Given the description of an element on the screen output the (x, y) to click on. 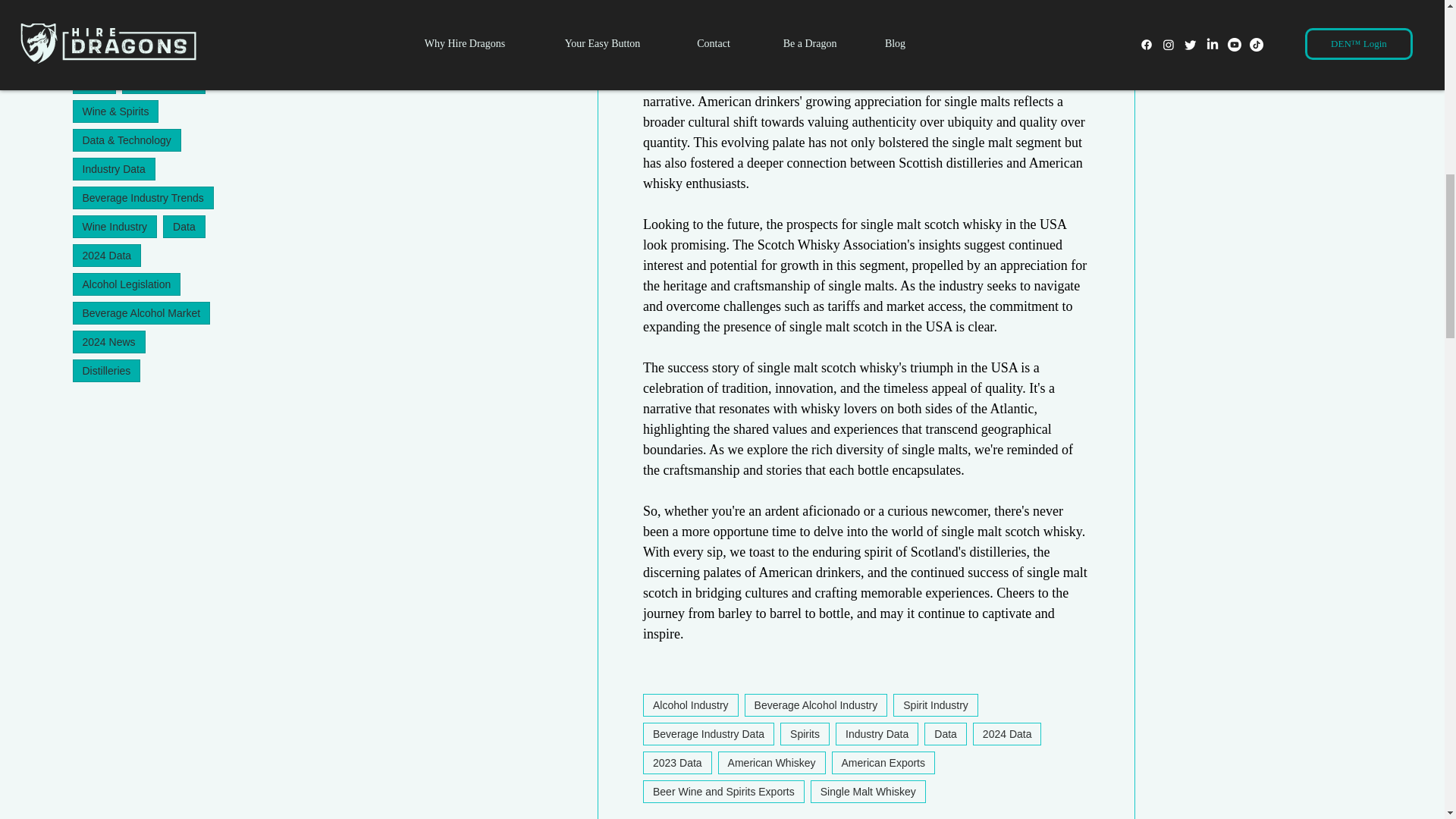
Distilleries (106, 370)
Wine Industry (114, 226)
Beer (149, 53)
Alcohol Legislation (126, 283)
Data (184, 226)
2024 News (108, 341)
2024 Data (106, 255)
Beer Industry (163, 82)
Spirit Industry (114, 3)
Beverage Industry Trends (143, 197)
